Given the description of an element on the screen output the (x, y) to click on. 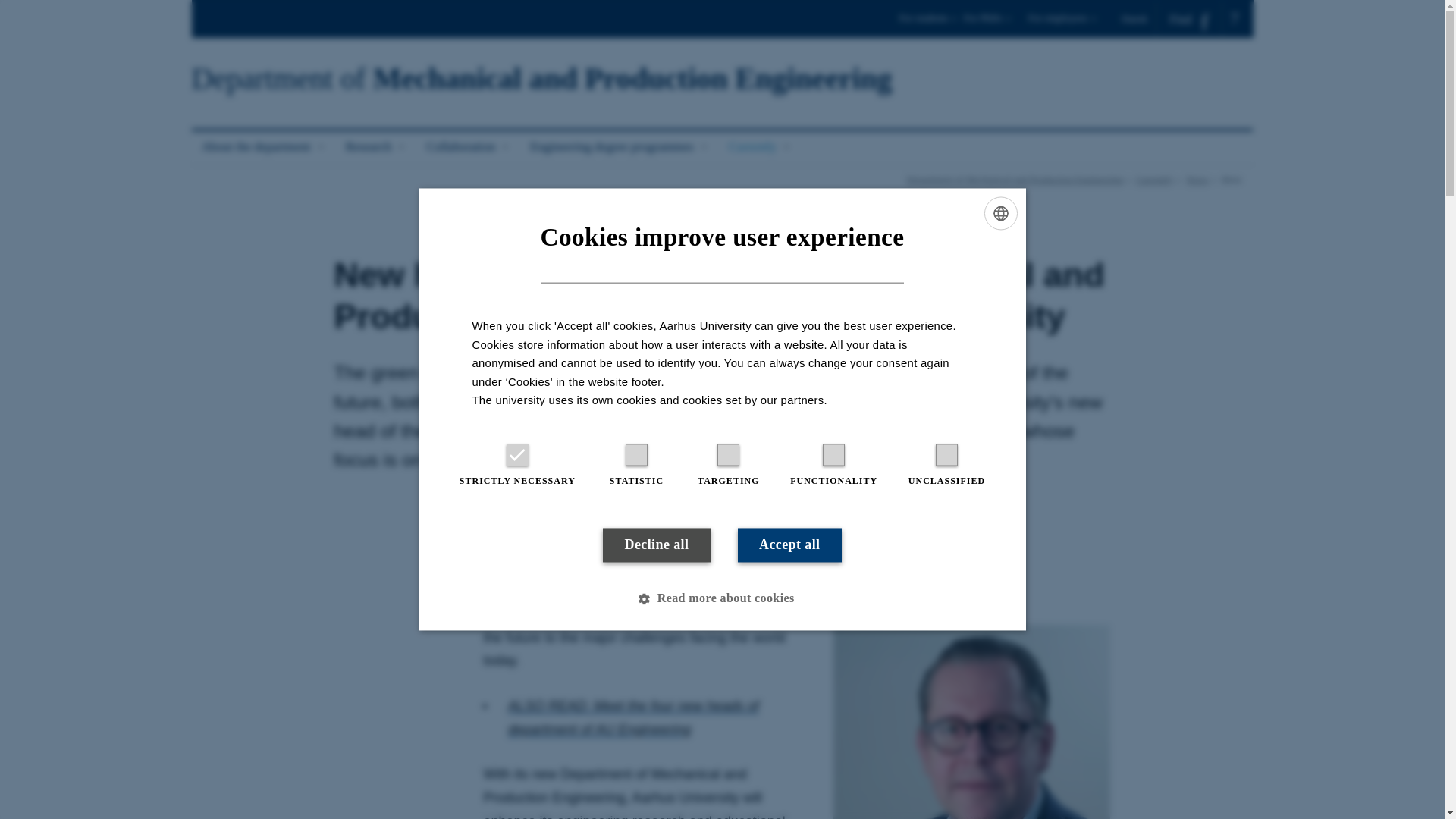
Dansk (1139, 18)
Dansk (1139, 18)
Department of Mechanical and Production Engineering (540, 78)
Collaboration (467, 147)
Research (376, 147)
For students (927, 22)
Search (17, 5)
About the department (262, 147)
For PhDs (992, 22)
For employees (1061, 23)
Find (1189, 19)
